Given the description of an element on the screen output the (x, y) to click on. 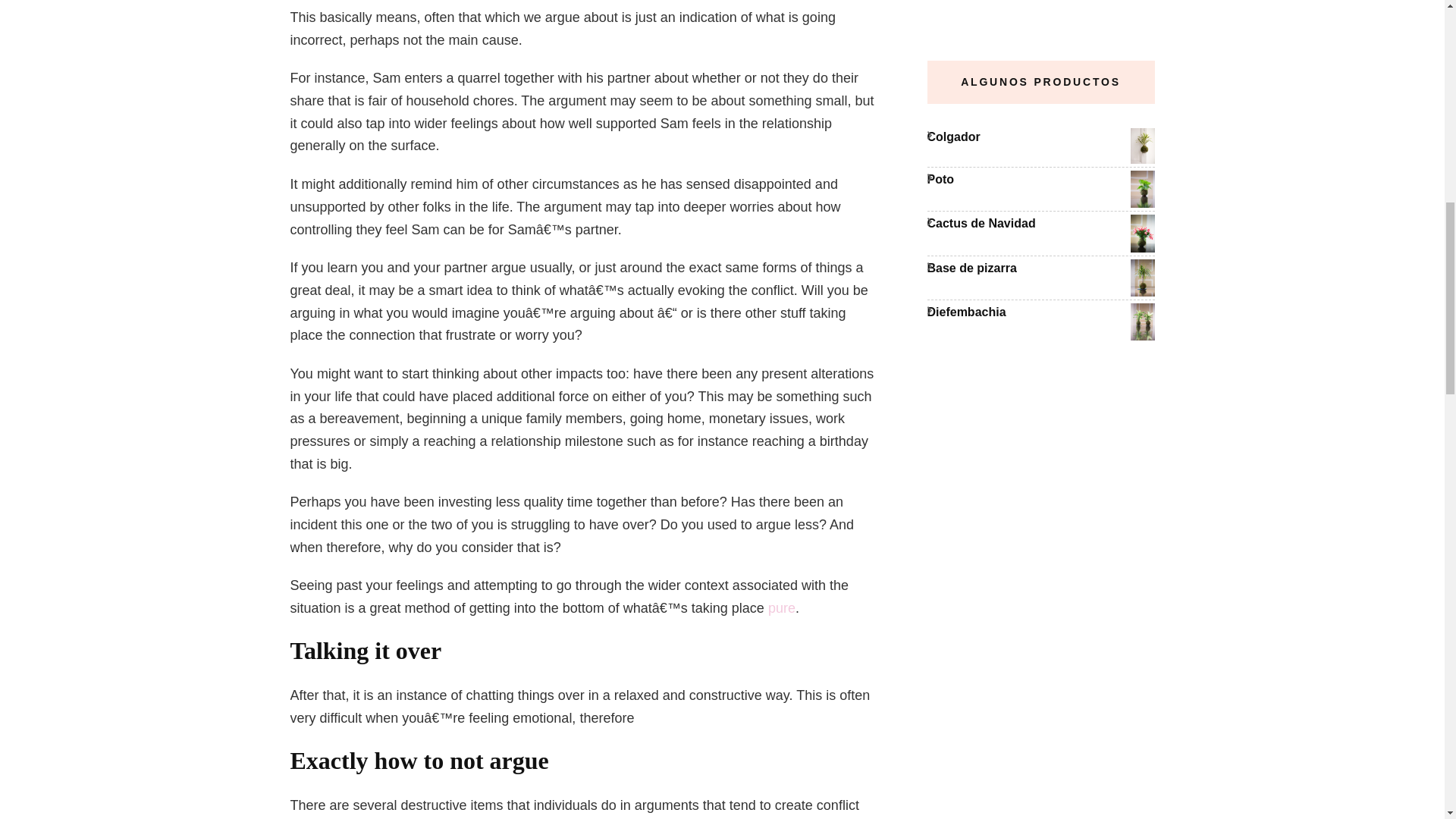
pure (781, 607)
